Given the description of an element on the screen output the (x, y) to click on. 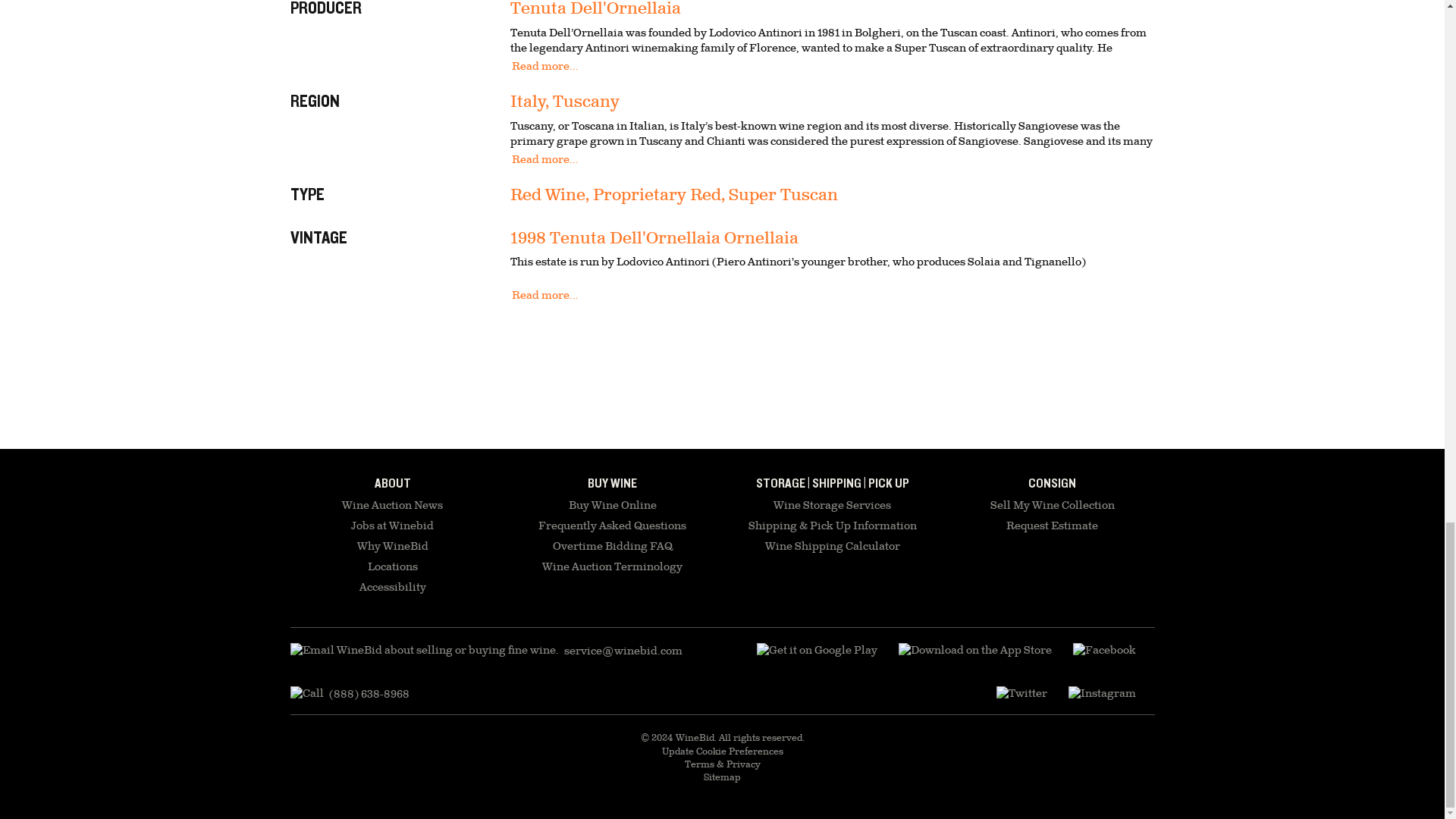
Twitter (1020, 694)
Facebook (1103, 650)
Email (485, 650)
Download on the App Store (817, 650)
Download on the App Store (974, 650)
Call WineBid about selling or buying fine wine. (349, 694)
